Given the description of an element on the screen output the (x, y) to click on. 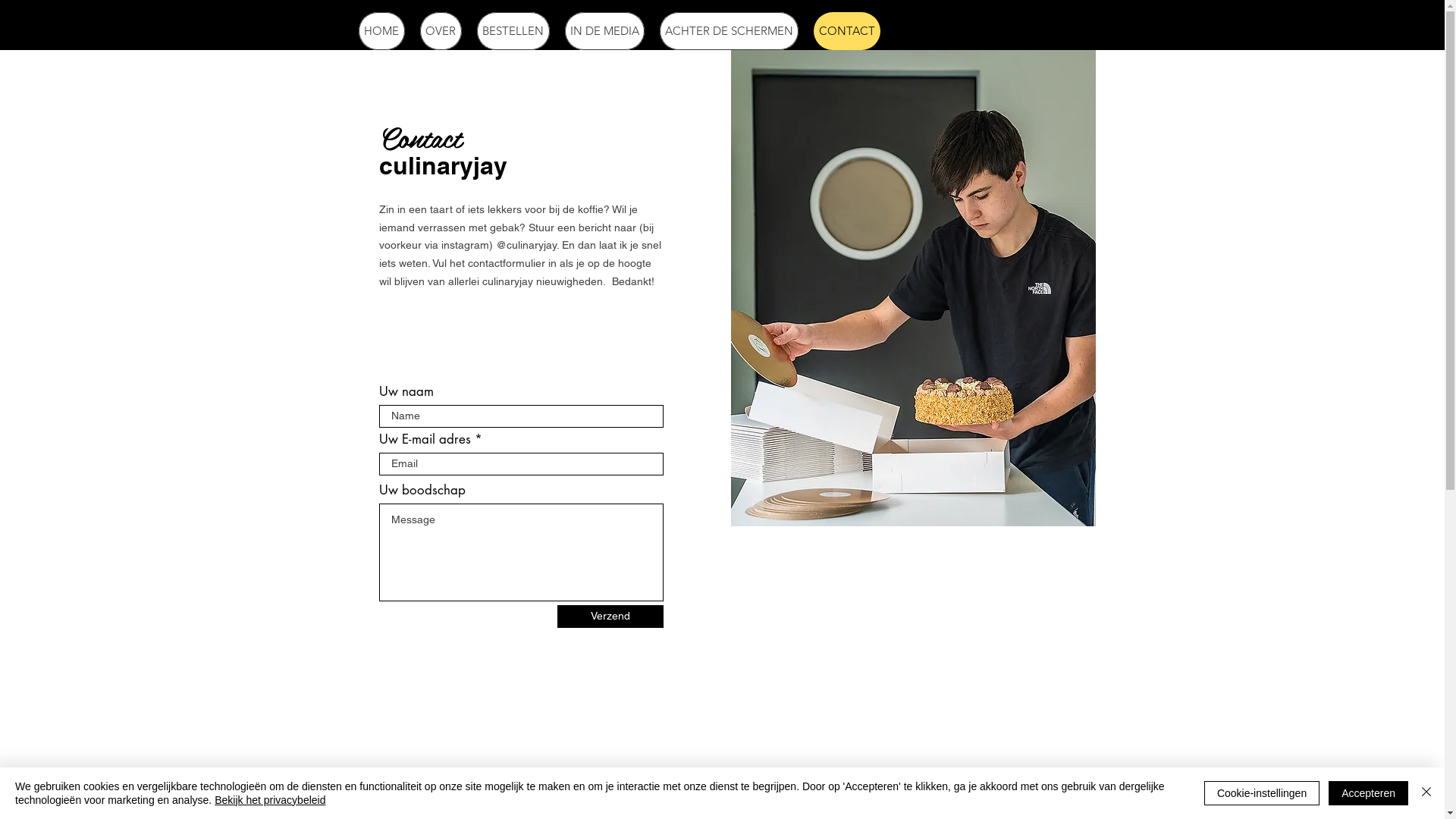
Verzend Element type: text (609, 616)
OVER Element type: text (440, 31)
HOME Element type: text (380, 31)
CONTACT Element type: text (845, 31)
BESTELLEN Element type: text (512, 31)
Accepteren Element type: text (1368, 793)
Cookie-instellingen Element type: text (1261, 793)
ACHTER DE SCHERMEN Element type: text (728, 31)
Bekijk het privacybeleid Element type: text (269, 799)
IN DE MEDIA Element type: text (603, 31)
